Given the description of an element on the screen output the (x, y) to click on. 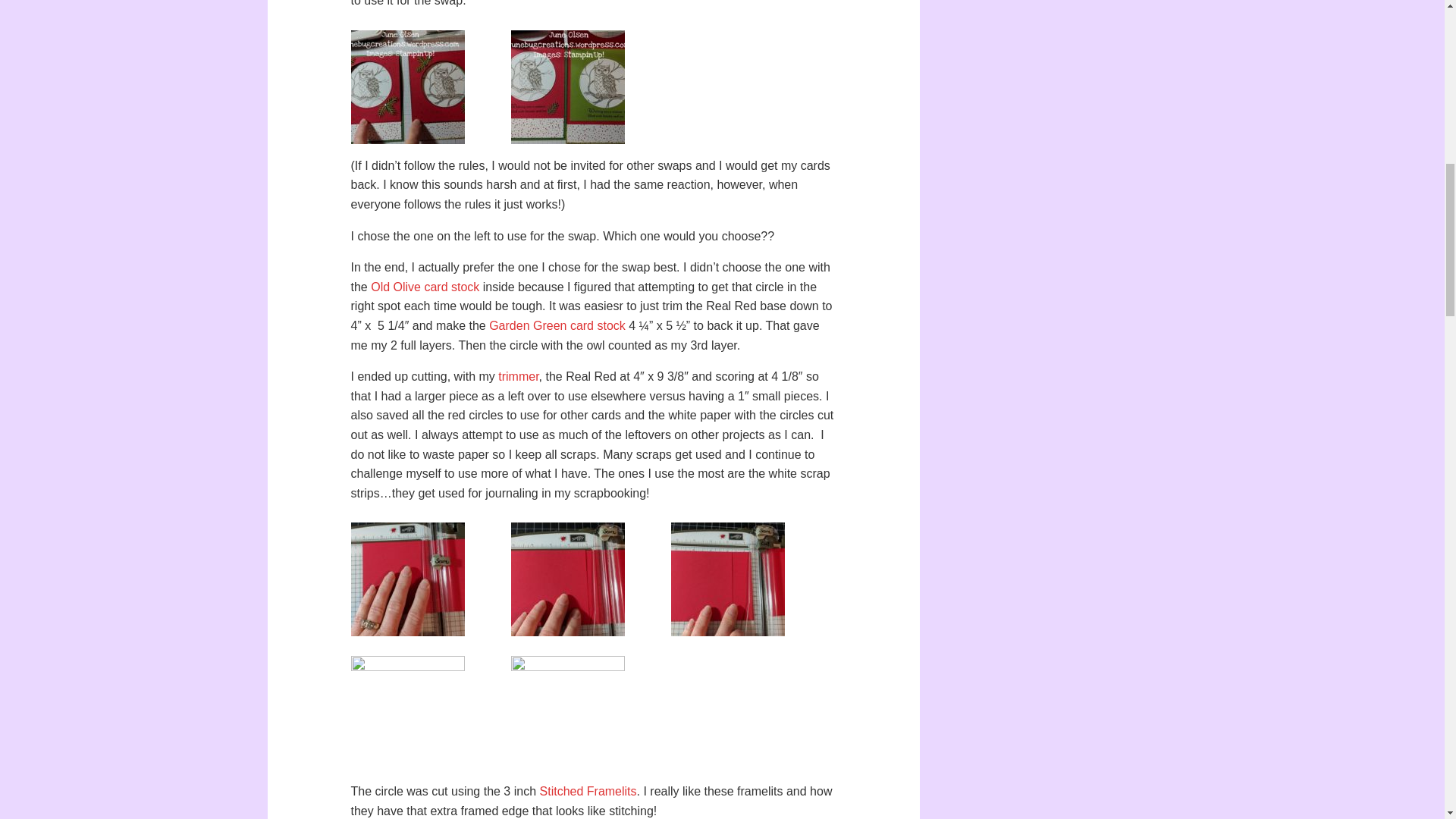
trimmer (517, 376)
Old Olive card stock (425, 286)
Garden Green card stock (557, 325)
Stitched Framelits (588, 790)
